Given the description of an element on the screen output the (x, y) to click on. 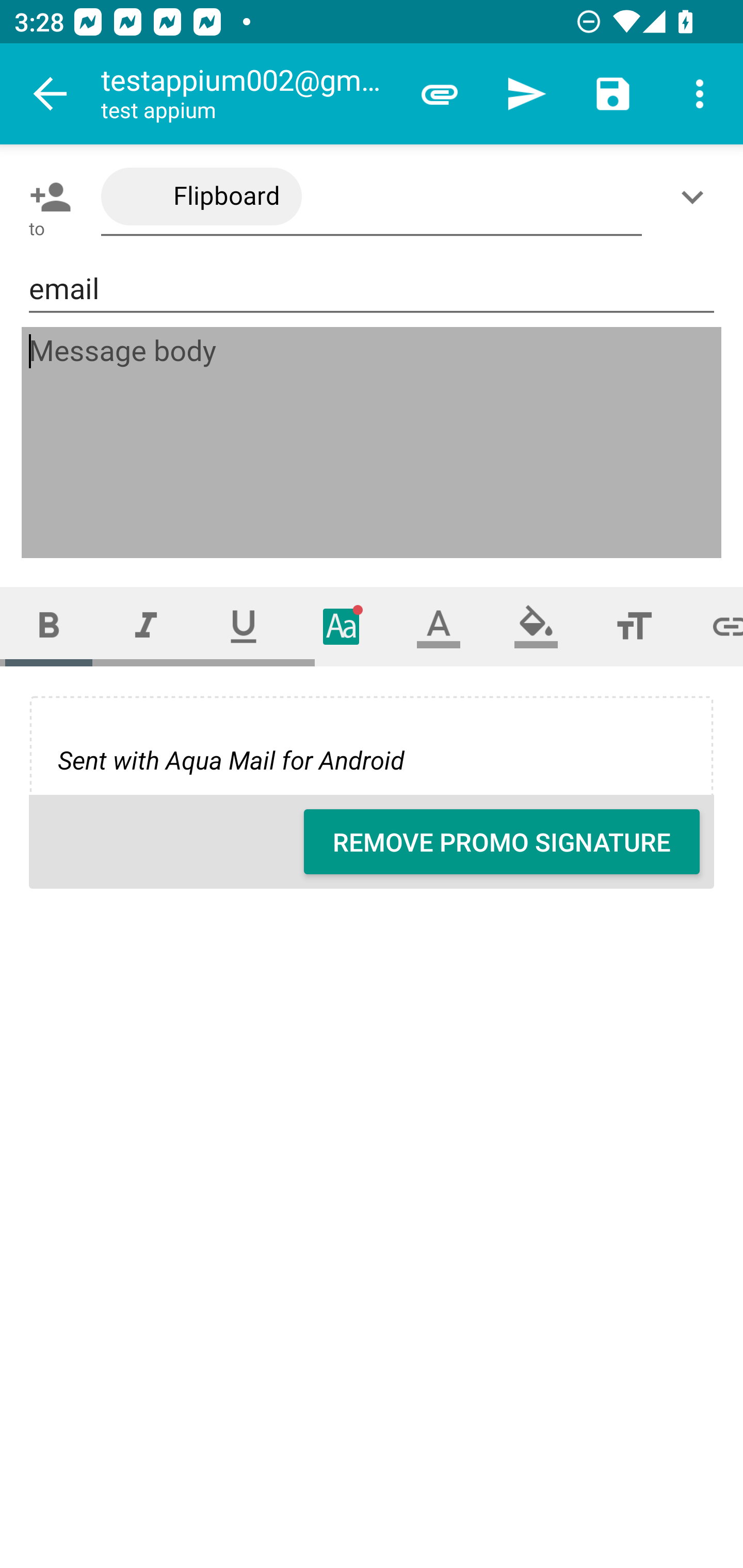
Navigate up (50, 93)
testappium002@gmail.com test appium (248, 93)
Attach (439, 93)
Send (525, 93)
Save (612, 93)
More options (699, 93)
Flipboard <editorialstaff@flipboard.com>,  (371, 197)
Pick contact: To (46, 196)
Show/Add CC/BCC (696, 196)
email (371, 288)
Message body (372, 442)
Bold (48, 626)
Italic (145, 626)
Underline (243, 626)
Typeface (font) (341, 626)
Text color (438, 626)
Fill color (536, 626)
Font size (633, 626)
REMOVE PROMO SIGNATURE (501, 841)
